Given the description of an element on the screen output the (x, y) to click on. 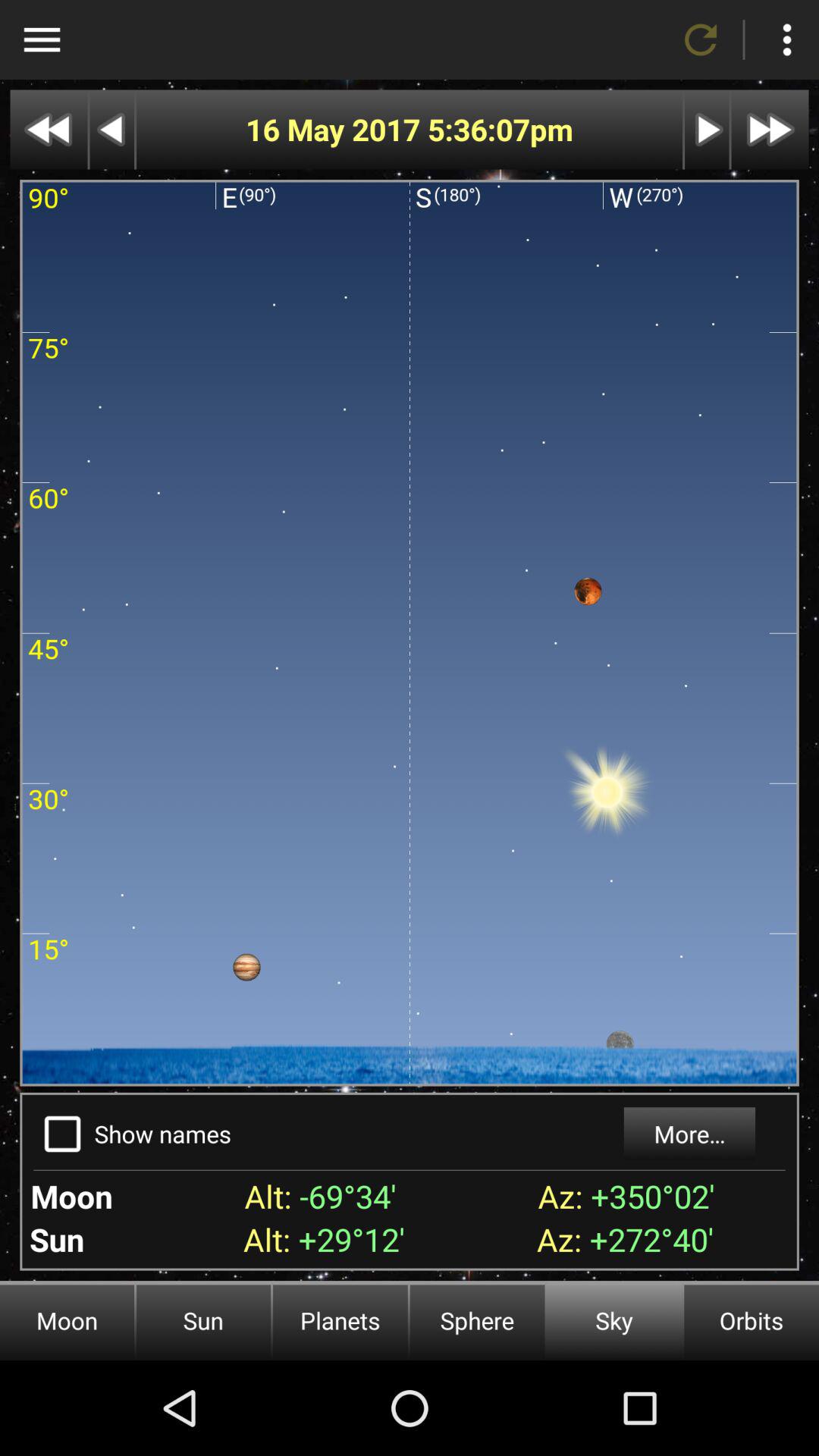
turn off the 16 may 2017  icon (336, 129)
